Given the description of an element on the screen output the (x, y) to click on. 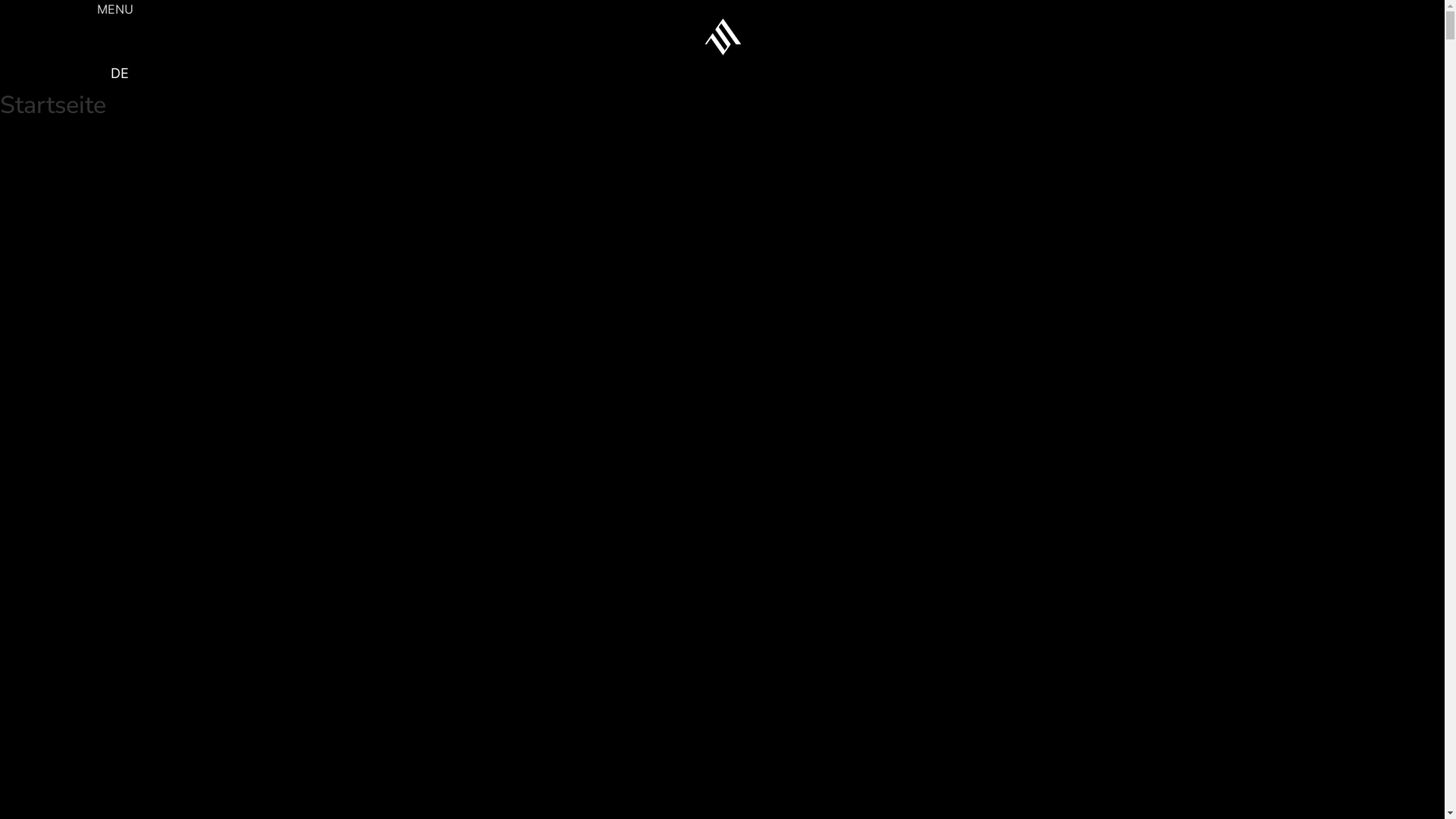
MENU Element type: text (722, 9)
DE Element type: text (119, 73)
